Given the description of an element on the screen output the (x, y) to click on. 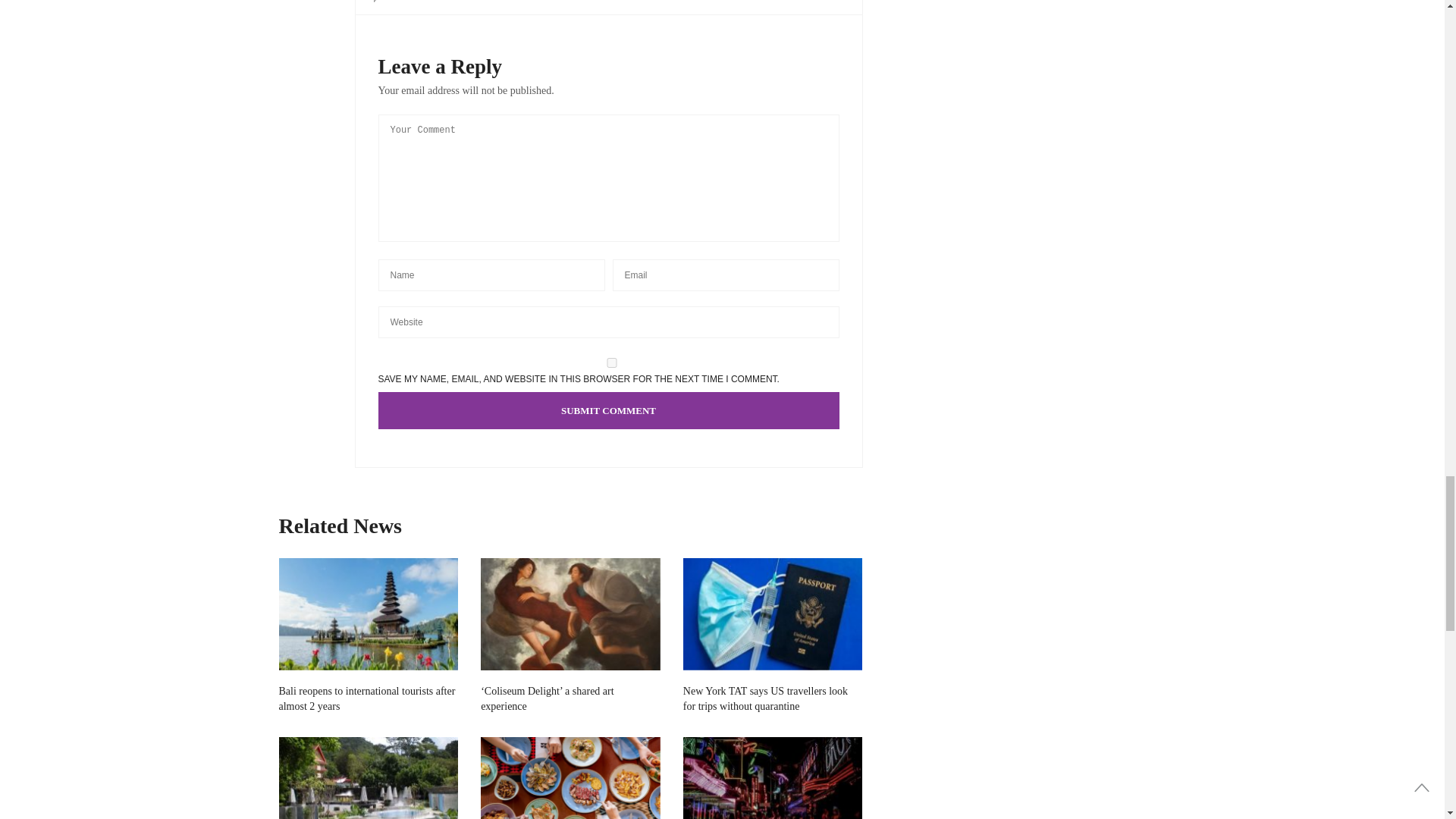
Submit Comment (607, 410)
yes (610, 362)
